Given the description of an element on the screen output the (x, y) to click on. 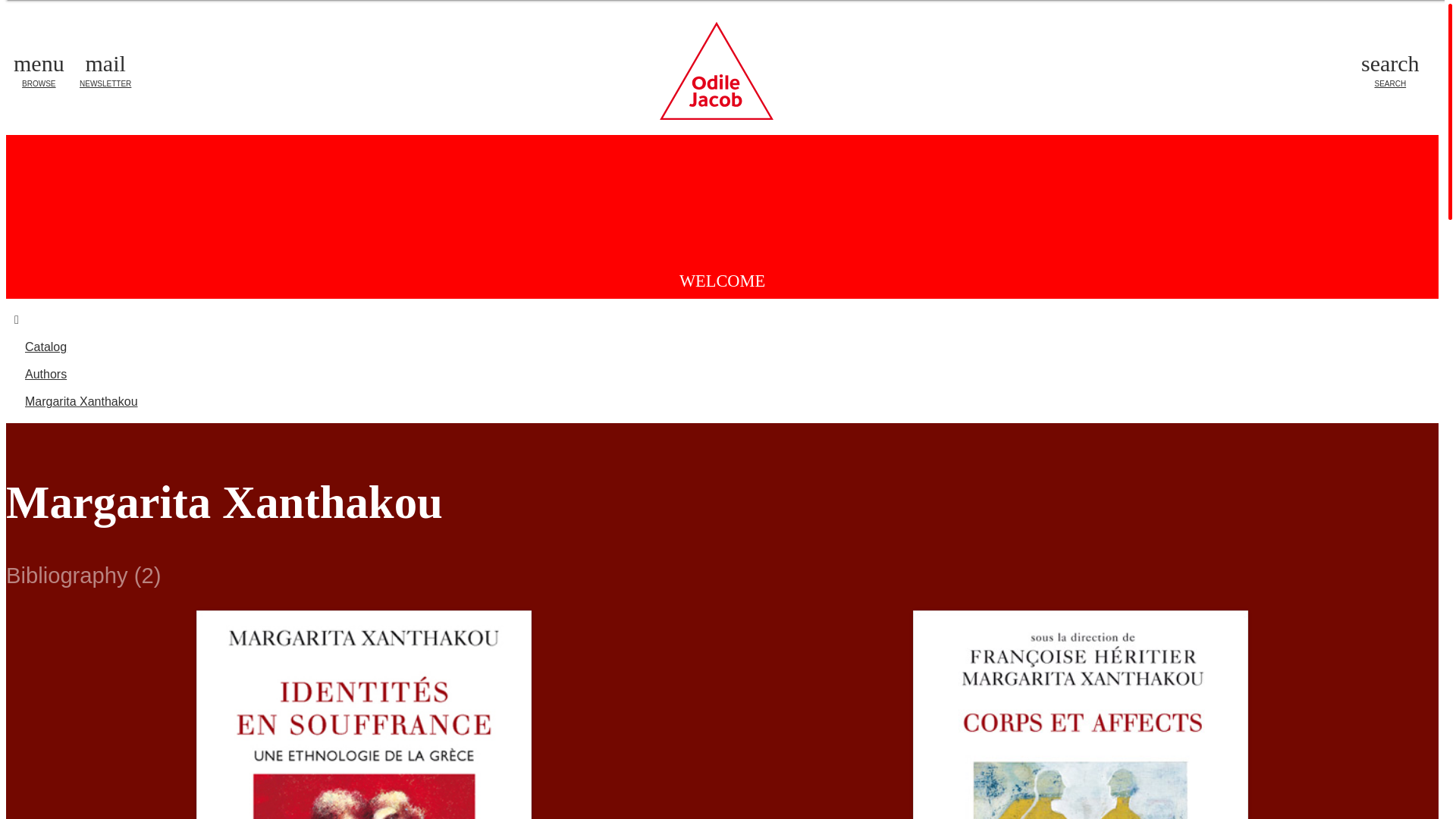
Browse (38, 70)
Odile Jacob Publishing (38, 70)
Search (1390, 70)
